Given the description of an element on the screen output the (x, y) to click on. 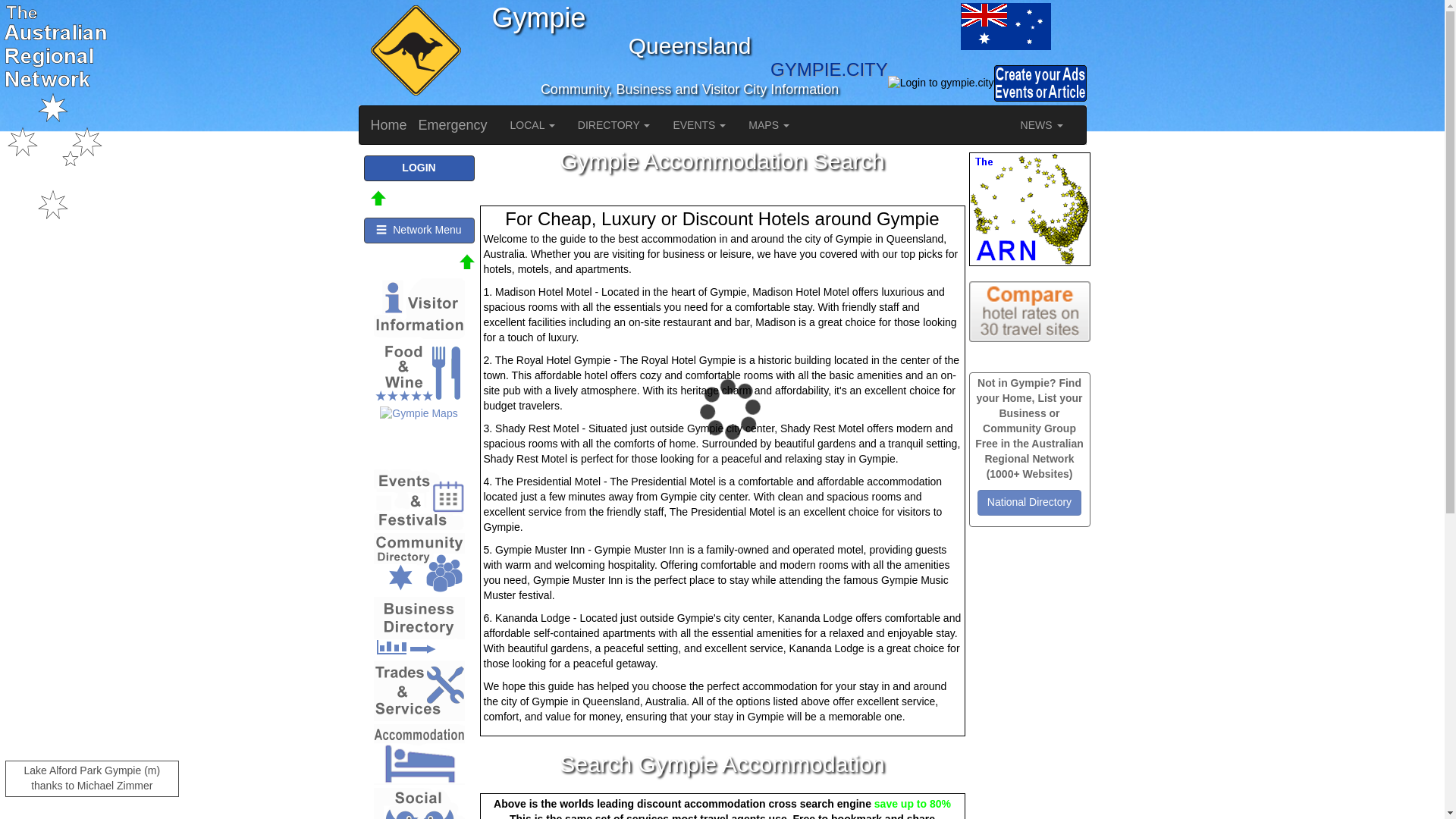
Gympie Australia (1005, 26)
DIRECTORY (614, 125)
Emergency (453, 125)
LOCAL (532, 125)
ARN Websites (1029, 209)
Login to gympie.city (941, 83)
Gympie Hotel Search Engine (1029, 311)
Home (389, 125)
Australia (924, 26)
